Given the description of an element on the screen output the (x, y) to click on. 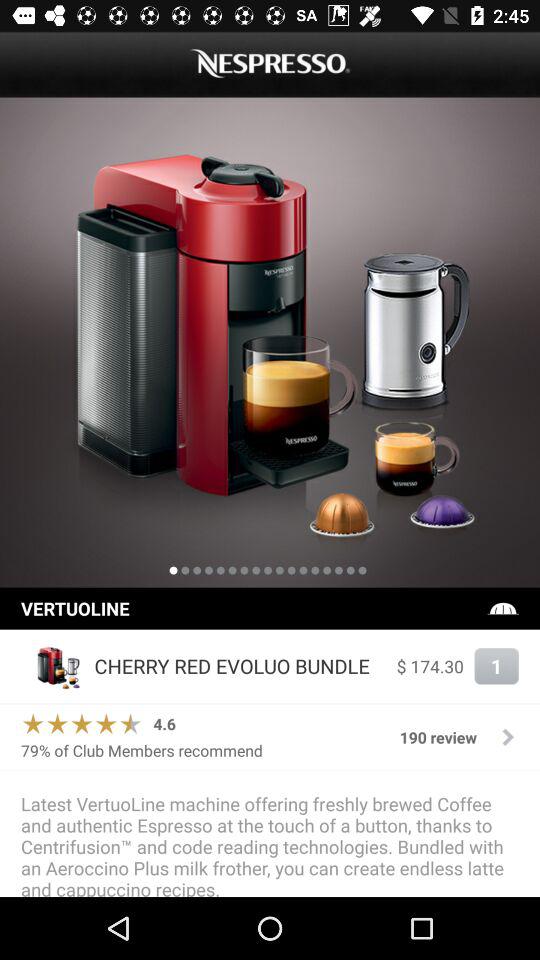
flip until the 190 review item (437, 737)
